Given the description of an element on the screen output the (x, y) to click on. 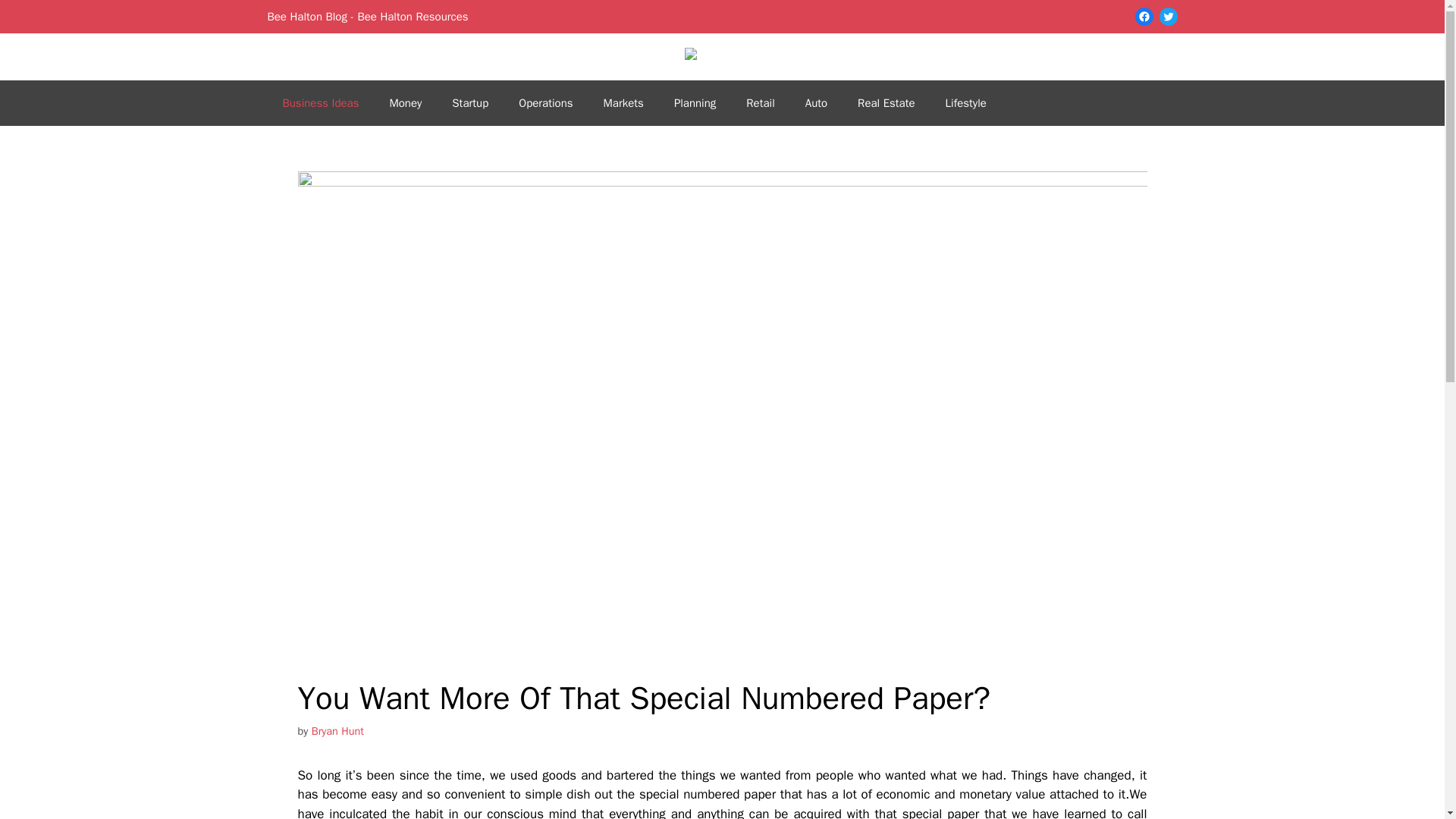
Twitter (1167, 16)
Money (405, 103)
View all posts by Bryan Hunt (337, 730)
Lifestyle (965, 103)
Startup (469, 103)
Markets (623, 103)
Operations (545, 103)
Auto (816, 103)
Facebook (1143, 16)
Planning (694, 103)
